Given the description of an element on the screen output the (x, y) to click on. 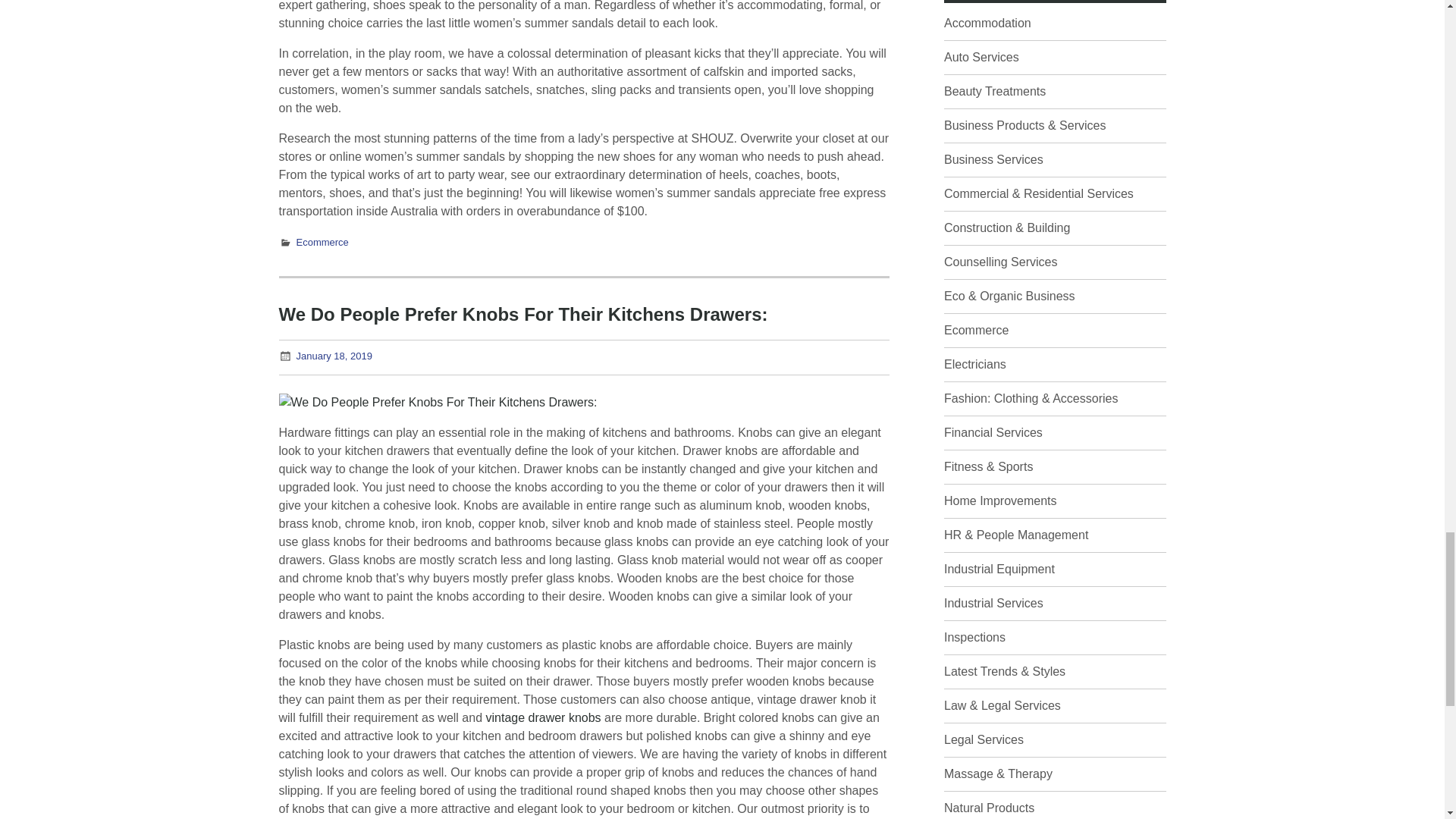
Ecommerce (321, 242)
vintage drawer knobs (541, 717)
Ecommerce (976, 329)
Accommodation (986, 22)
Electricians (974, 364)
January 18, 2019 (333, 355)
We Do People Prefer Knobs For Their Kitchens Drawers: (523, 313)
